Given the description of an element on the screen output the (x, y) to click on. 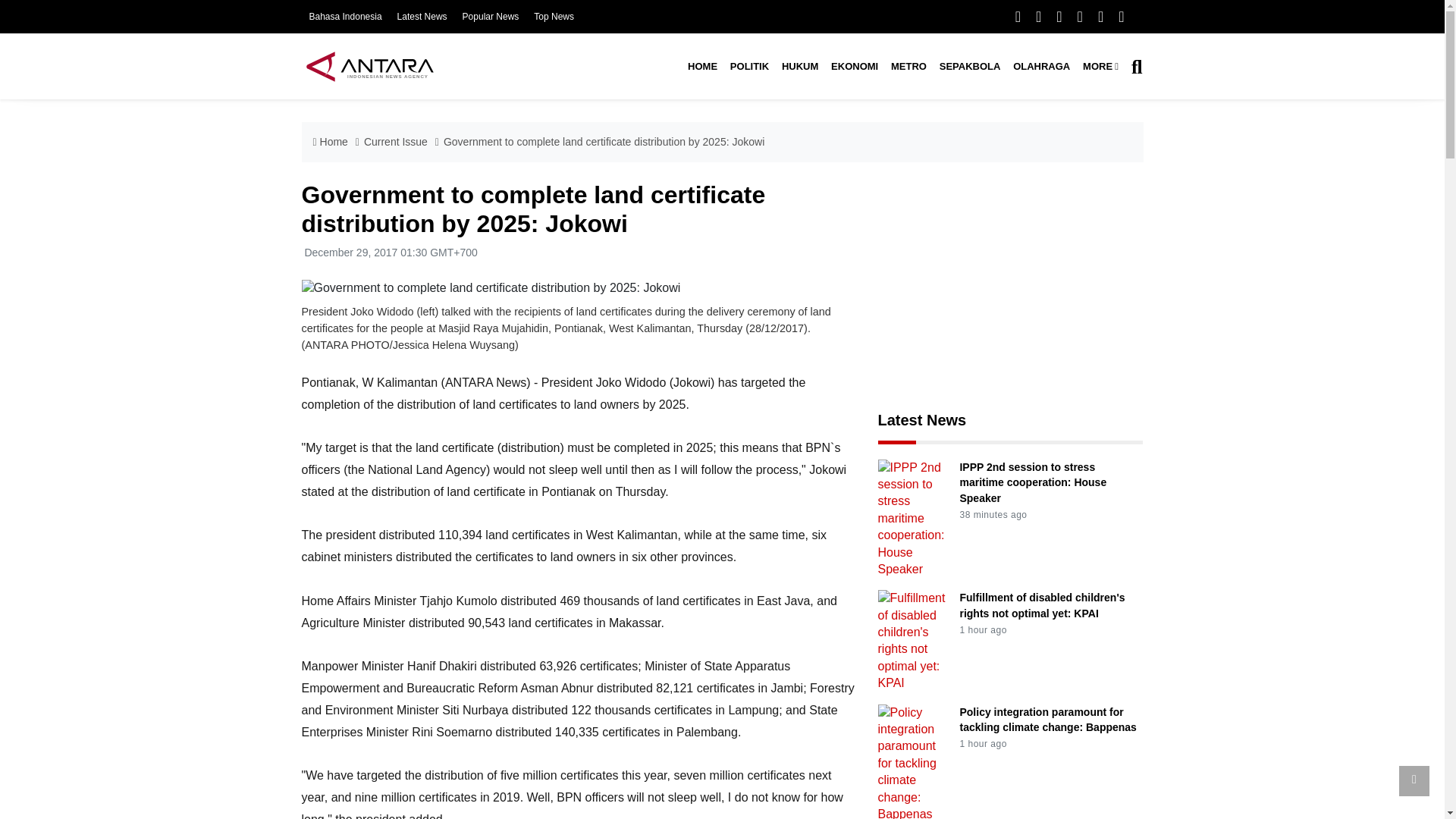
Latest News (421, 16)
Popular News (491, 16)
Olahraga (1042, 66)
Ekonomi (855, 66)
EKONOMI (855, 66)
Bahasa Indonesia (344, 16)
Bahasa Indonesia (344, 16)
ANTARA News (369, 66)
Top News (553, 16)
OLAHRAGA (1042, 66)
Sepakbola (969, 66)
Top News (553, 16)
Latest News (421, 16)
Popular News (491, 16)
